Given the description of an element on the screen output the (x, y) to click on. 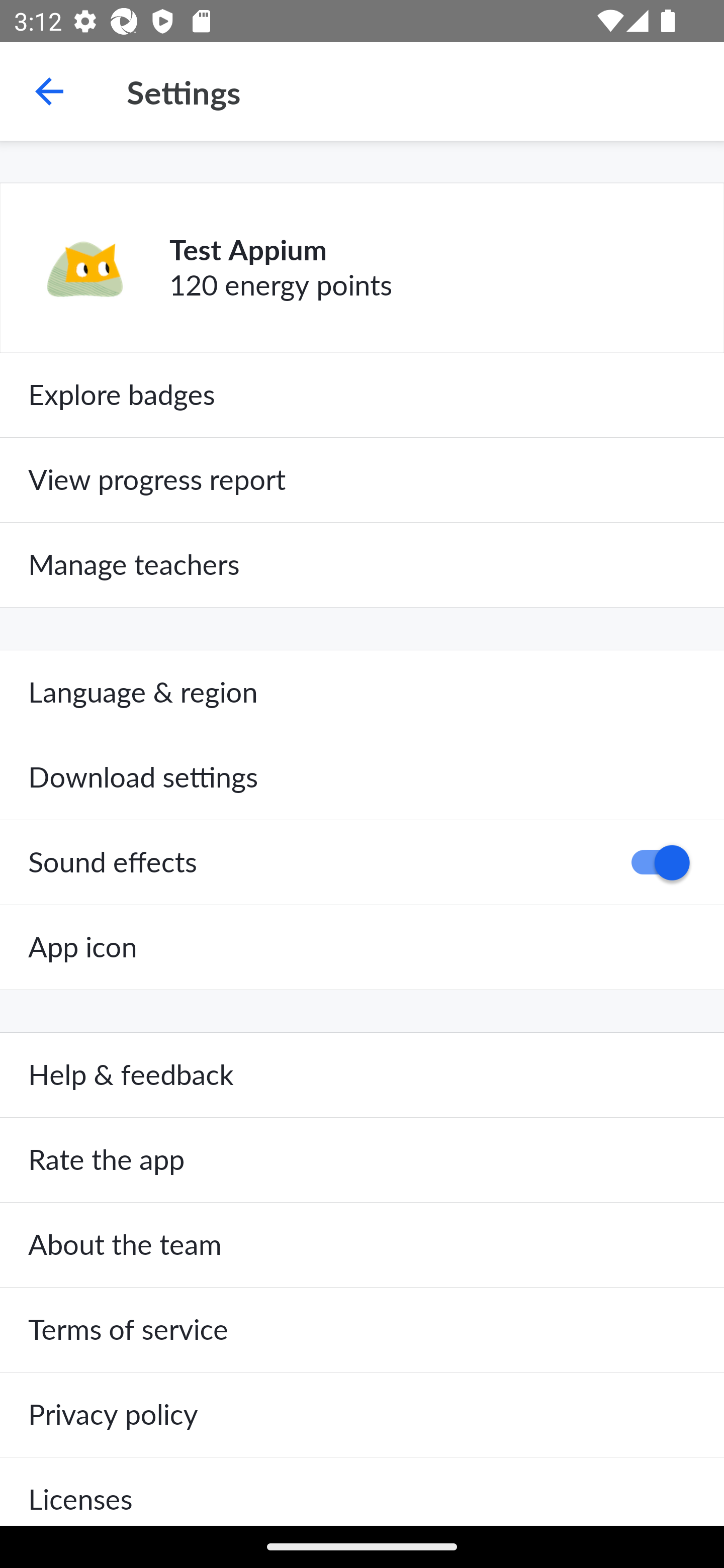
Navigate up (49, 91)
Explore badges (362, 394)
View progress report (362, 479)
Manage teachers (362, 565)
Language & region (362, 692)
Download settings (362, 777)
ON (653, 861)
App icon (362, 946)
Help & feedback (362, 1075)
Rate the app (362, 1159)
About the team (362, 1244)
Terms of service (362, 1329)
Privacy policy (362, 1414)
Licenses (362, 1490)
